Given the description of an element on the screen output the (x, y) to click on. 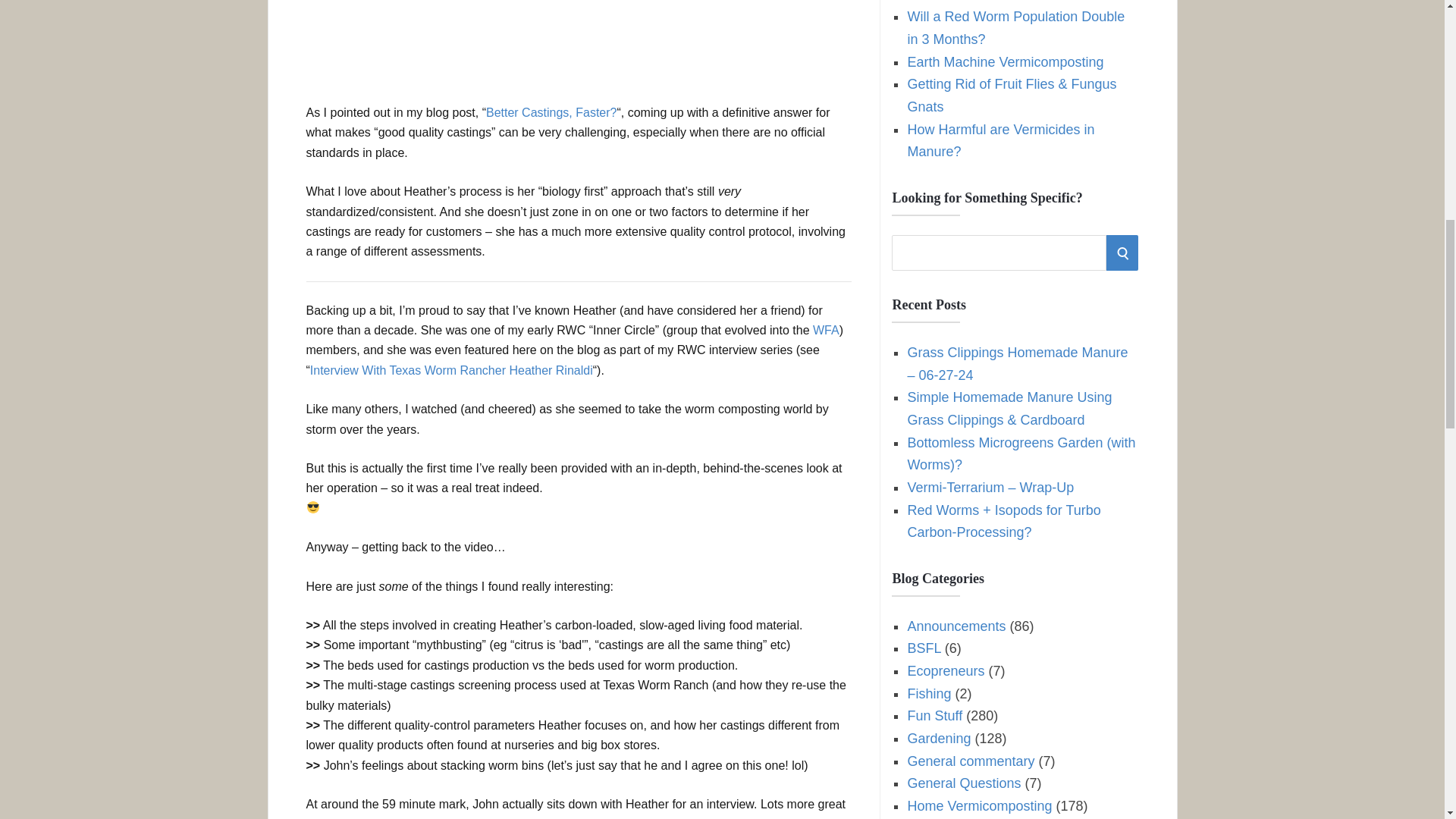
Better Castings, Faster? (551, 112)
Earth Machine Vermicomposting (1005, 61)
How Harmful are Vermicides in Manure? (1000, 140)
The Insurance Bin (962, 1)
WFA (826, 329)
Will a Red Worm Population Double in 3 Months? (1015, 27)
Interview With Texas Worm Rancher Heather Rinaldi (451, 369)
